Given the description of an element on the screen output the (x, y) to click on. 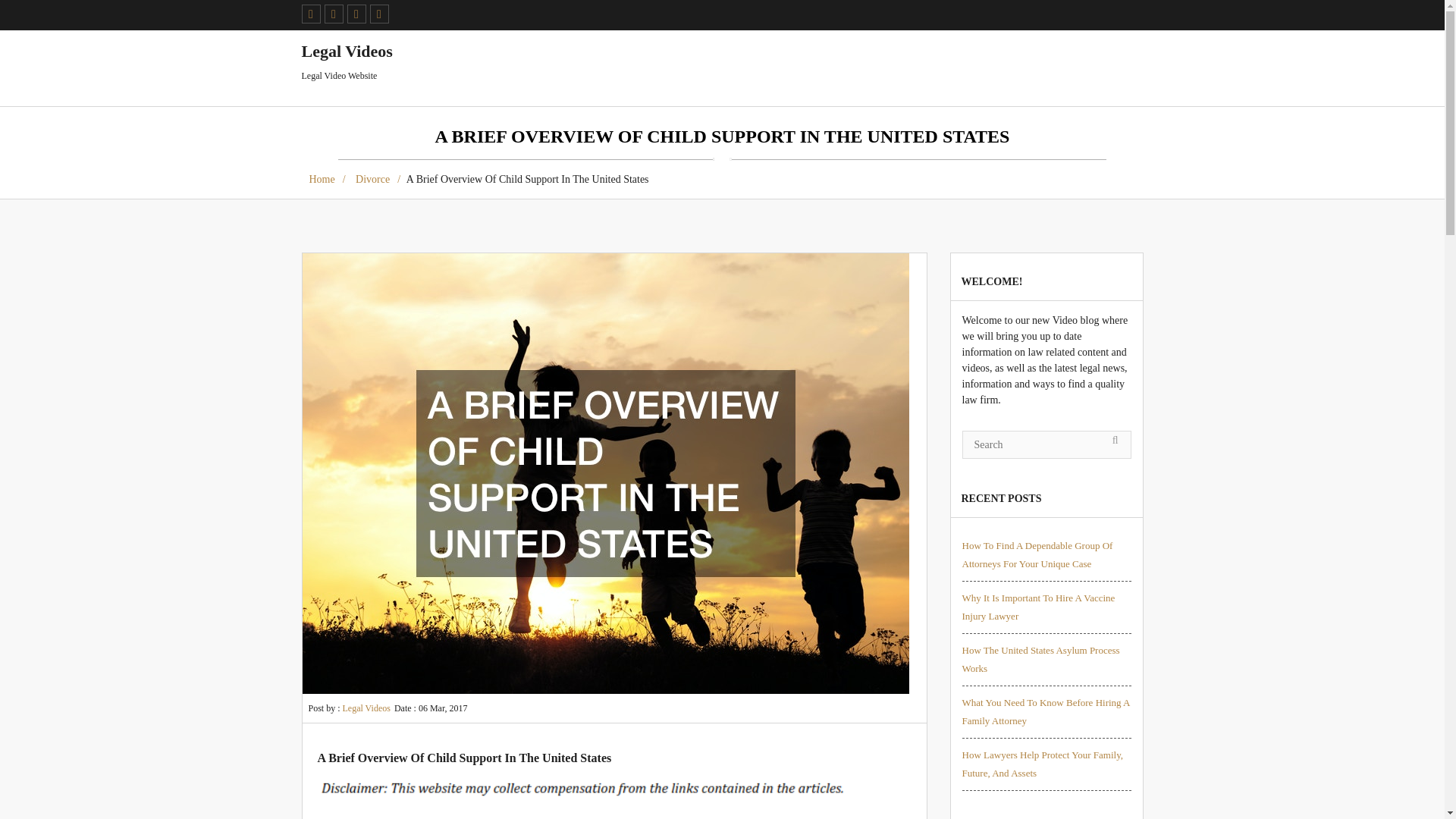
Home (326, 179)
Legal Videos (366, 707)
What You Need To Know Before Hiring A Family Attorney (1044, 711)
How Lawyers Help Protect Your Family, Future, And Assets (1041, 763)
Divorce (378, 179)
Why It Is Important To Hire A Vaccine Injury Lawyer (1037, 606)
How The United States Asylum Process Works (1039, 659)
